Given the description of an element on the screen output the (x, y) to click on. 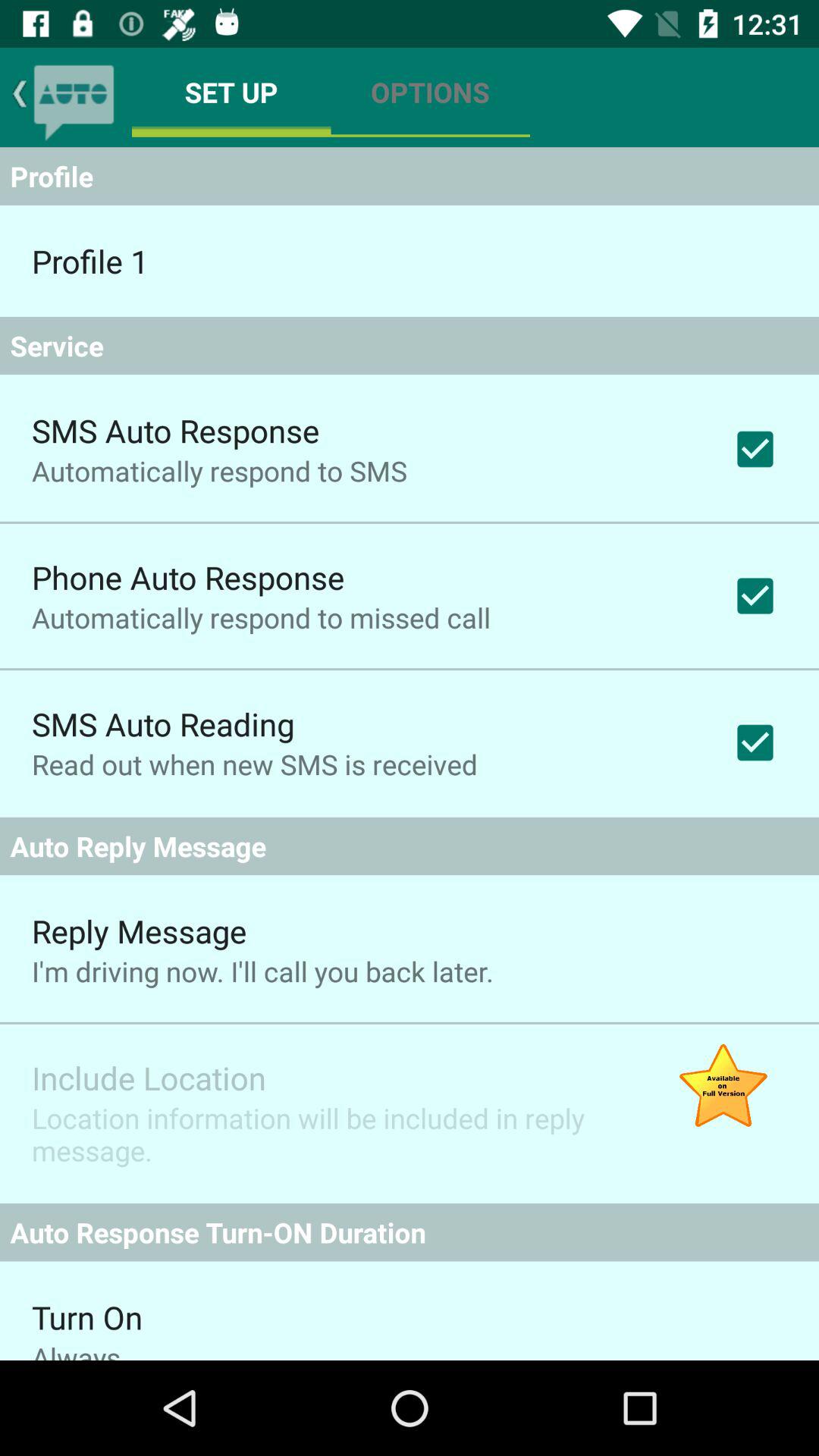
tap item to the right of location information will (723, 1087)
